Given the description of an element on the screen output the (x, y) to click on. 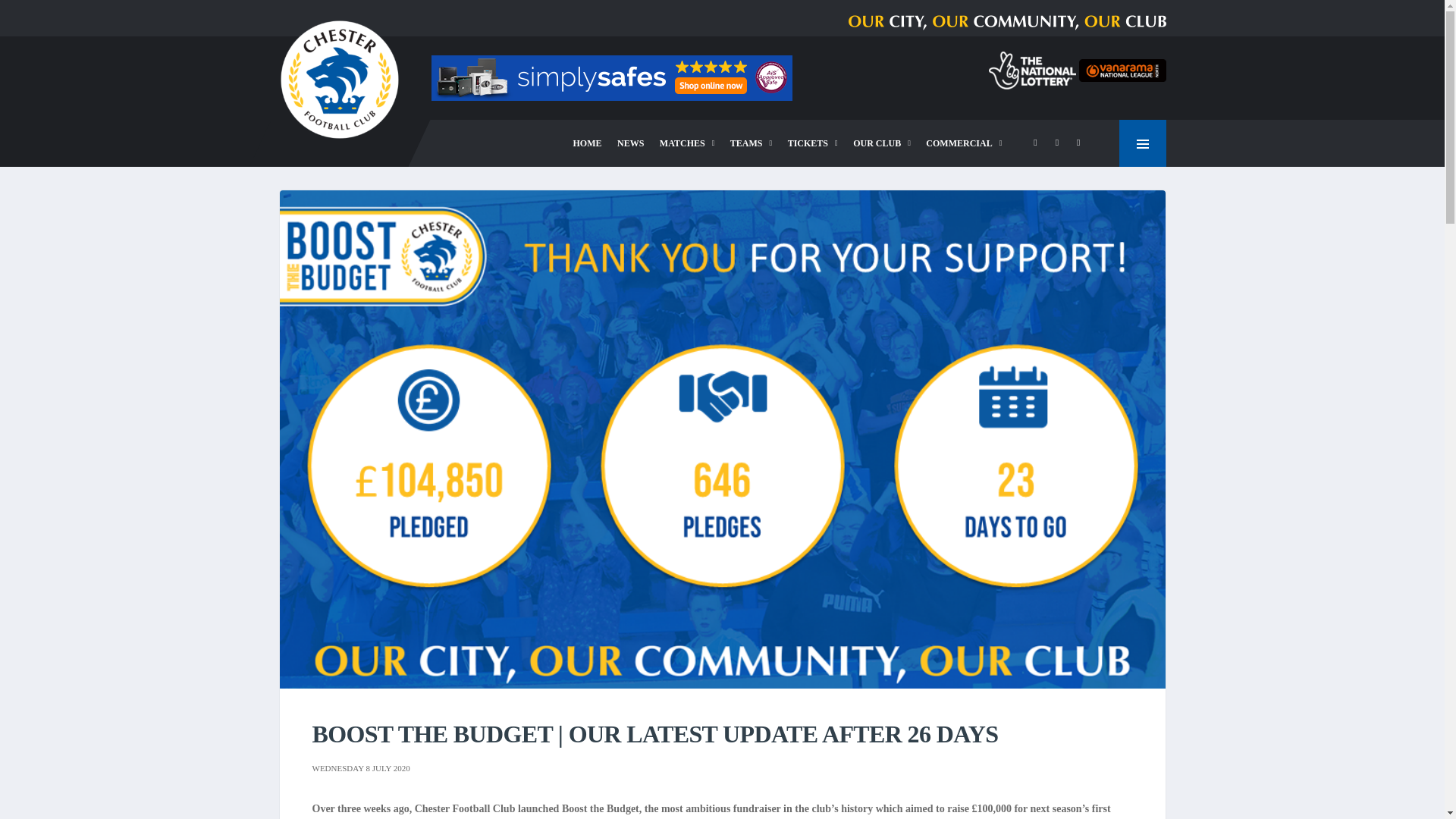
NEWS (630, 143)
OUR CLUB (882, 143)
HOME (587, 143)
MATCHES (686, 143)
TICKETS (812, 143)
TEAMS (750, 143)
